Given the description of an element on the screen output the (x, y) to click on. 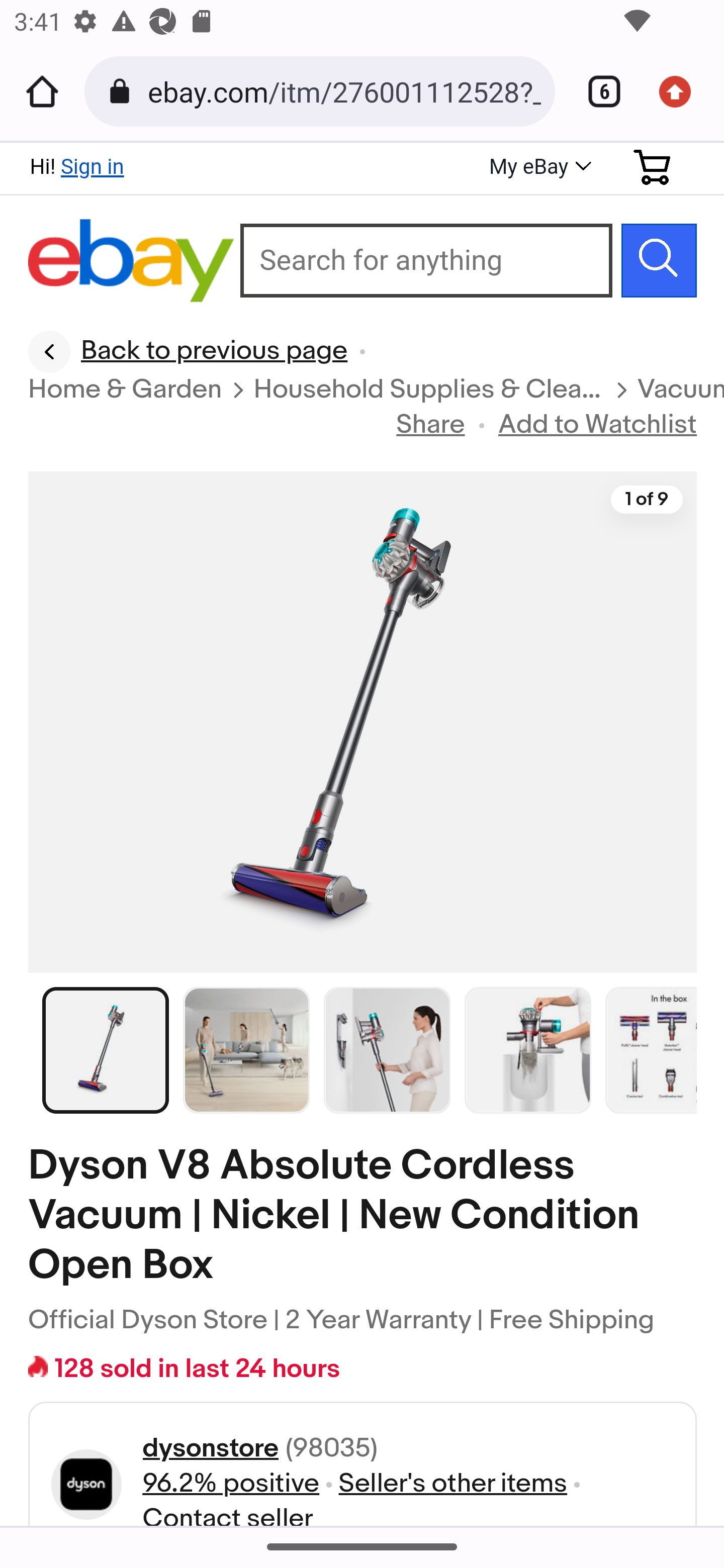
Home (42, 91)
Connection is secure (122, 91)
Switch or close tabs (597, 91)
Update available. More options (681, 91)
Your shopping cart (652, 166)
My eBay (538, 167)
Sign in (92, 166)
eBay Home (132, 260)
Search (658, 260)
Back to previous page (188, 351)
Home & Garden (125, 391)
Household Supplies & Cleaning (429, 391)
Vacuum Cleaners (680, 391)
Share (431, 425)
Add to Watchlist (598, 425)
Picture 1 of 9 (105, 1049)
Picture 2 of 9 (247, 1049)
Picture 3 of 9 (386, 1049)
Picture 4 of 9 (527, 1049)
Picture 5 of 9 (651, 1049)
dysonstore (209, 1449)
96.2% positive (230, 1483)
Seller's other items (453, 1483)
Contact seller (227, 1514)
